Given the description of an element on the screen output the (x, y) to click on. 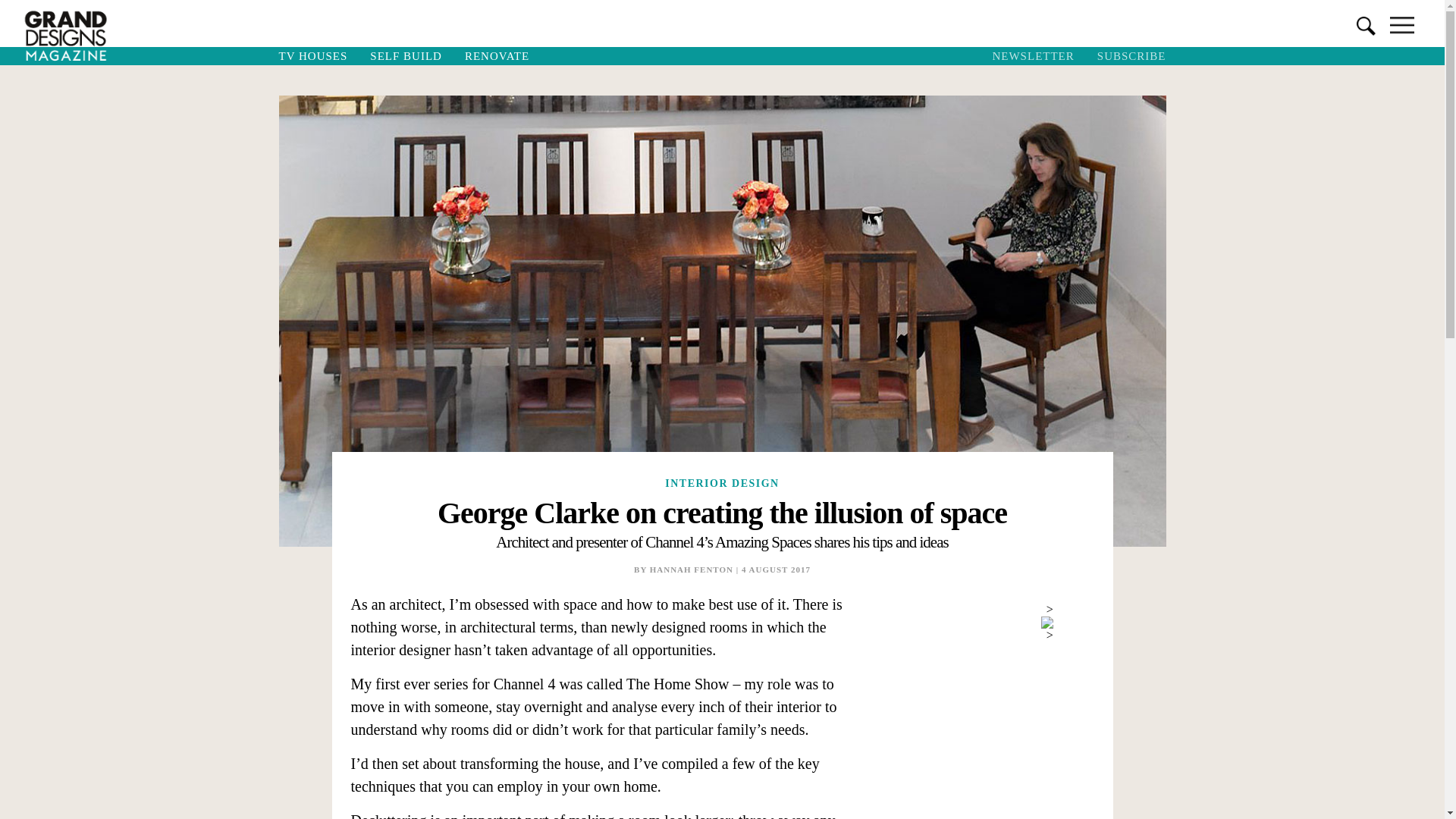
TV HOUSES (312, 56)
RENOVATE (496, 56)
SELF BUILD (405, 56)
Search (20, 8)
